Given the description of an element on the screen output the (x, y) to click on. 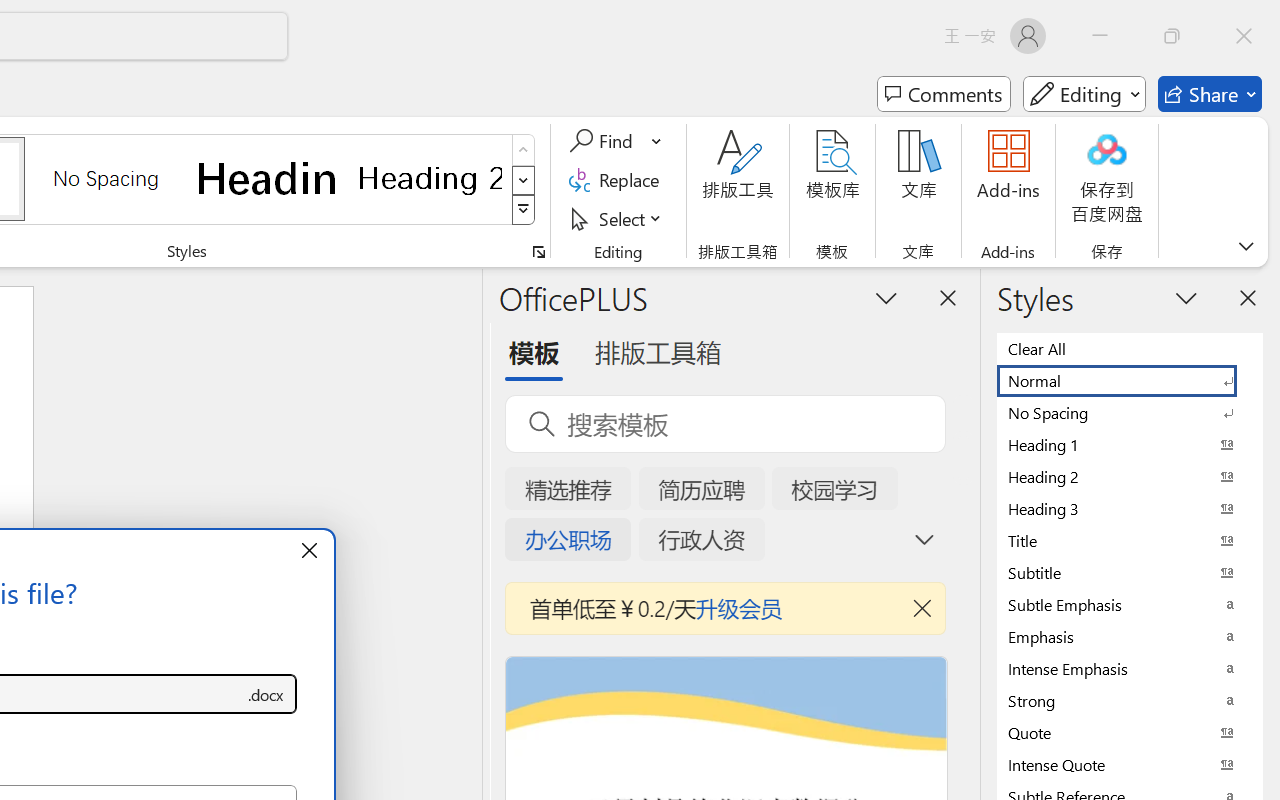
No Spacing (1130, 412)
Class: NetUIImage (523, 210)
Save as type (265, 694)
Mode (1083, 94)
Share (1210, 94)
Row Down (523, 180)
Emphasis (1130, 636)
Restore Down (1172, 36)
Intense Quote (1130, 764)
Comments (943, 94)
